Given the description of an element on the screen output the (x, y) to click on. 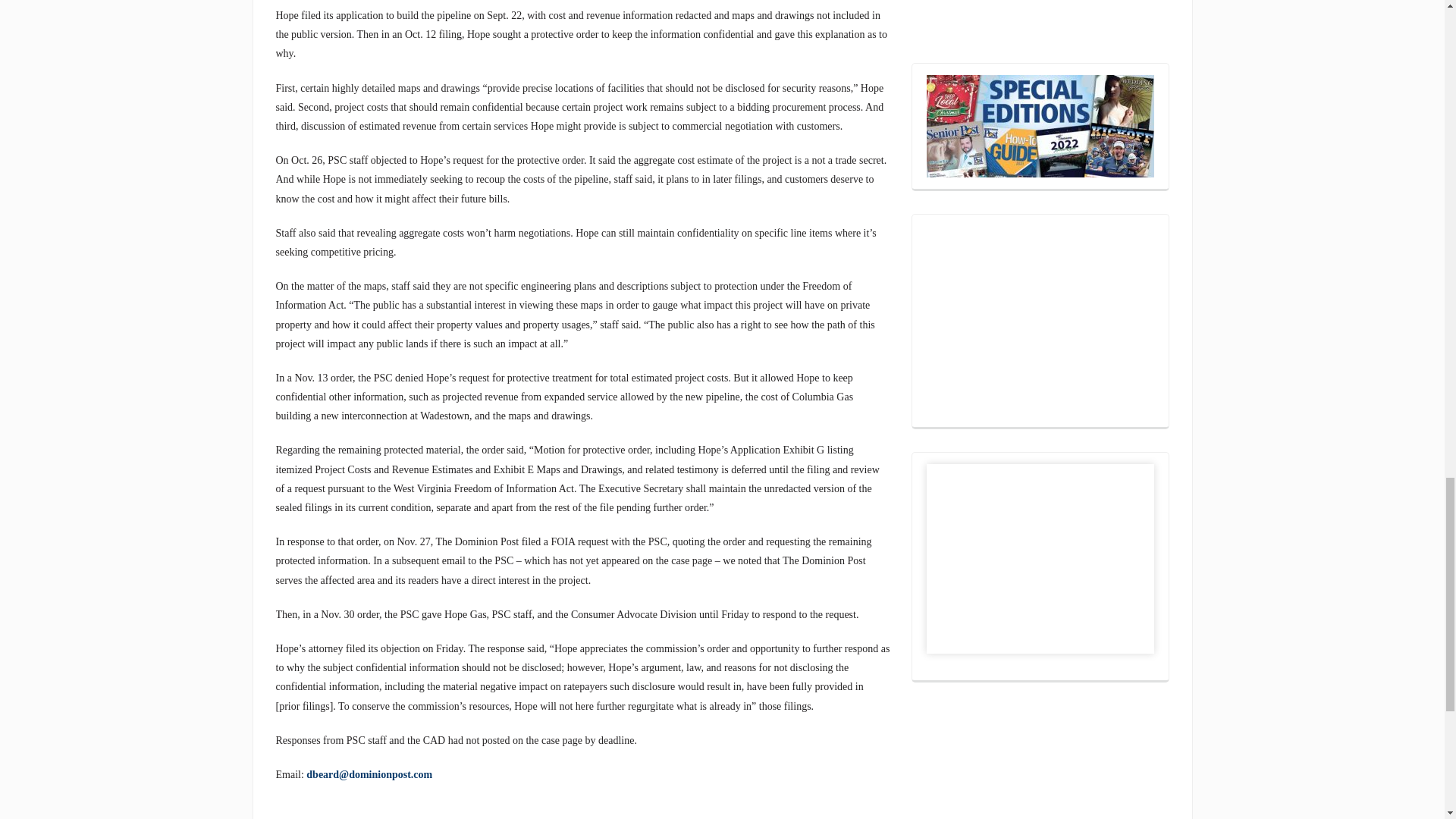
3rd party ad content (1040, 320)
3rd party ad content (1038, 14)
